Given the description of an element on the screen output the (x, y) to click on. 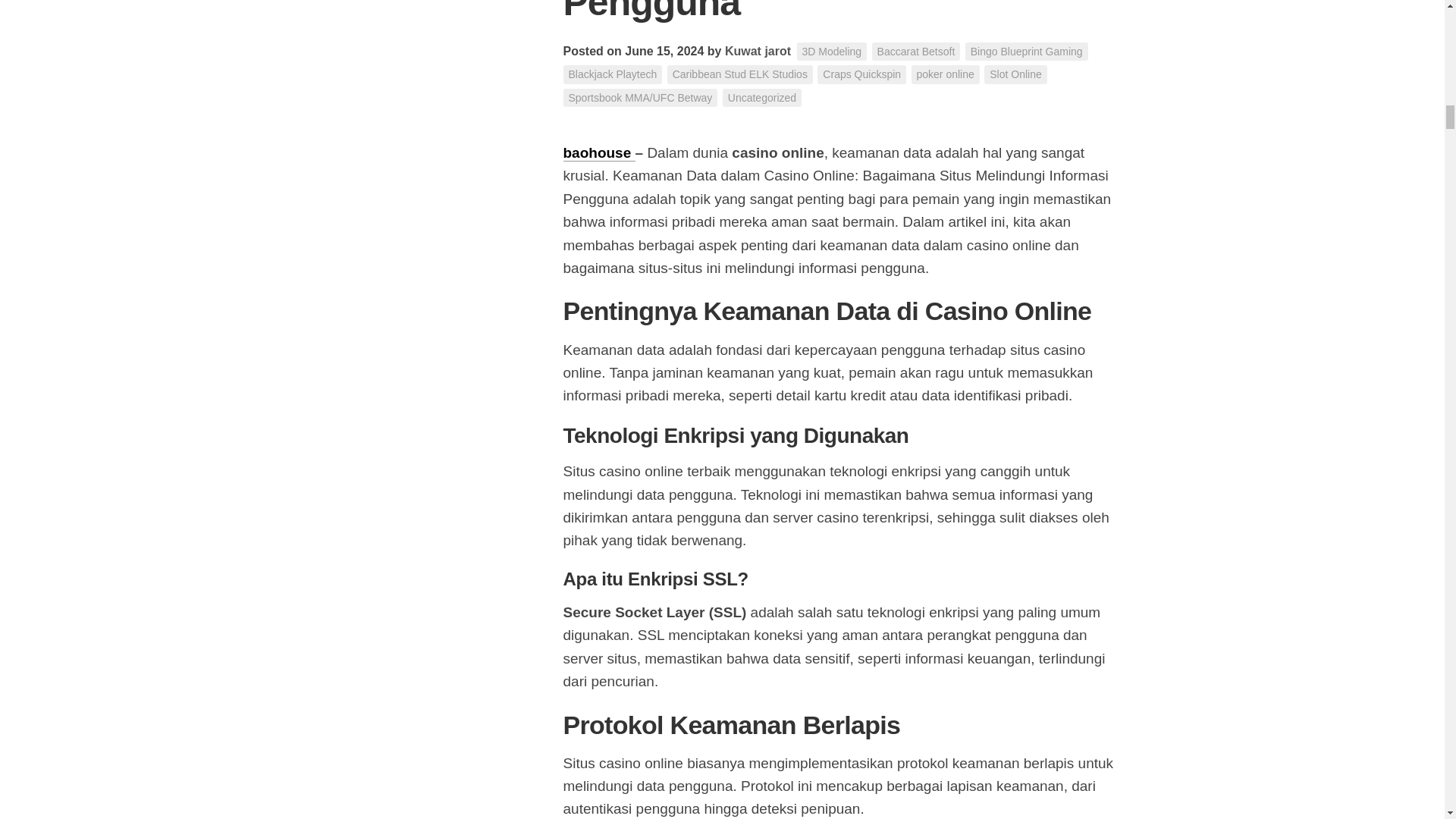
Kuwat jarot (757, 51)
Posts by Kuwat jarot (757, 51)
Caribbean Stud ELK Studios (739, 74)
Blackjack Playtech (612, 74)
poker online (945, 74)
Craps Quickspin (860, 74)
baohouse (598, 152)
Uncategorized (762, 97)
Baccarat Betsoft (916, 51)
